Given the description of an element on the screen output the (x, y) to click on. 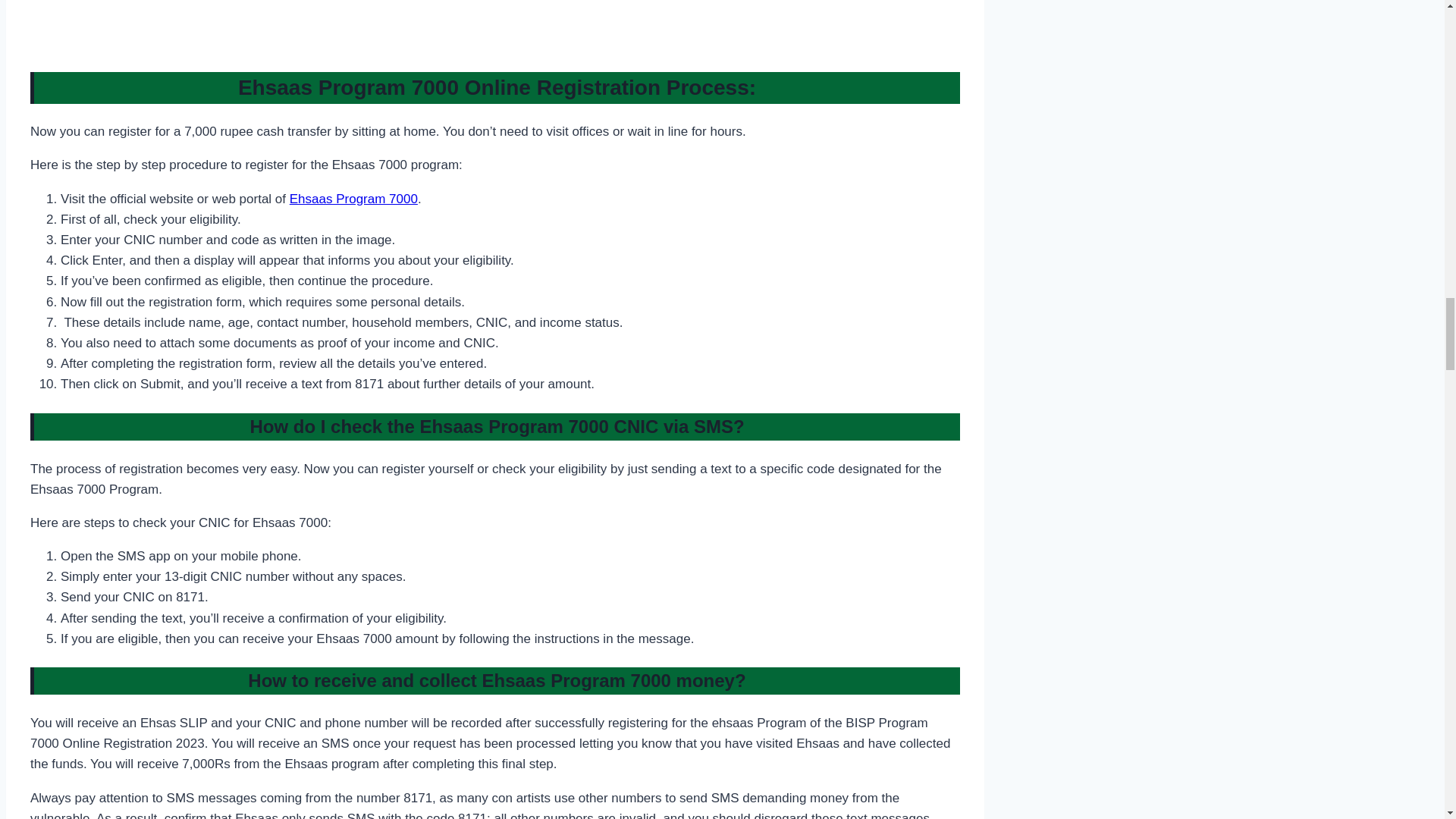
Ehsaas Program 7000 (353, 198)
